Given the description of an element on the screen output the (x, y) to click on. 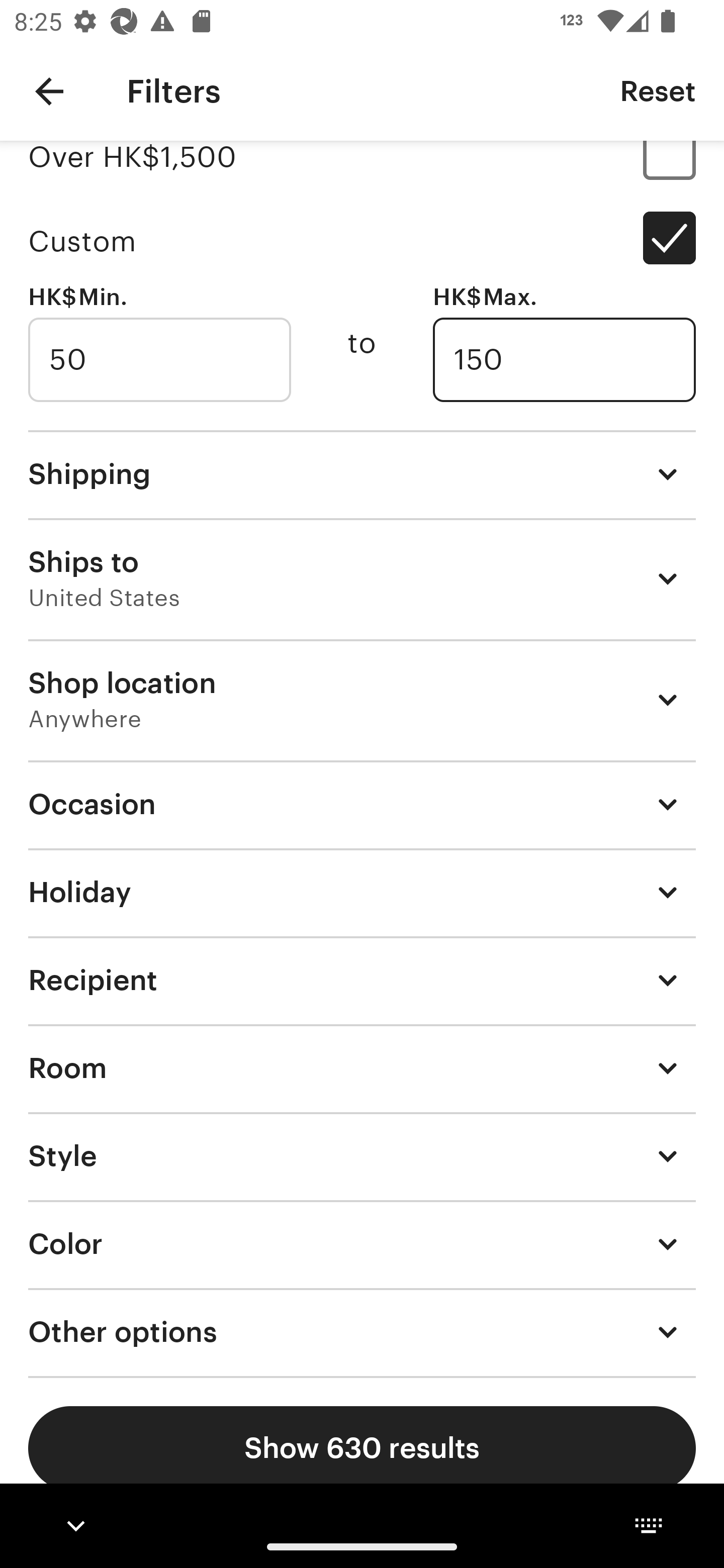
Navigate up (49, 91)
Reset (657, 90)
Over HK$1,500 (362, 170)
Custom (362, 241)
50 (159, 359)
150 (563, 359)
Shipping (362, 473)
Ships to United States (362, 578)
Shop location Anywhere (362, 699)
Occasion (362, 804)
Holiday (362, 892)
Recipient (362, 979)
Room (362, 1067)
Style (362, 1155)
Color (362, 1243)
Other options (362, 1331)
Show 630 results Show 11,032 results (361, 1448)
